Given the description of an element on the screen output the (x, y) to click on. 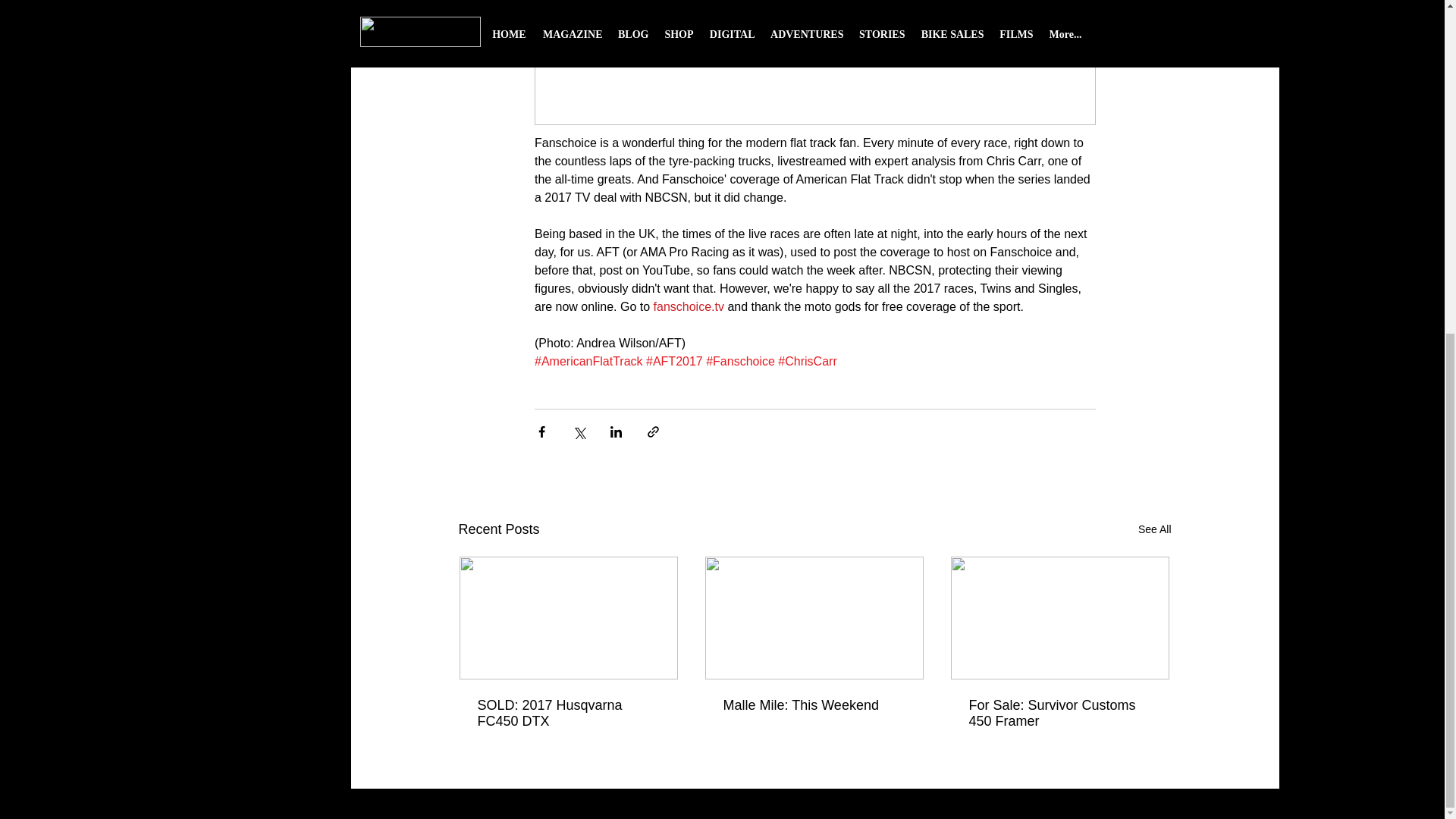
See All (1155, 529)
SOLD: 2017 Husqvarna FC450 DTX (568, 713)
For Sale: Survivor Customs 450 Framer (1060, 713)
Malle Mile: This Weekend (814, 705)
fanschoice.tv (687, 306)
